Given the description of an element on the screen output the (x, y) to click on. 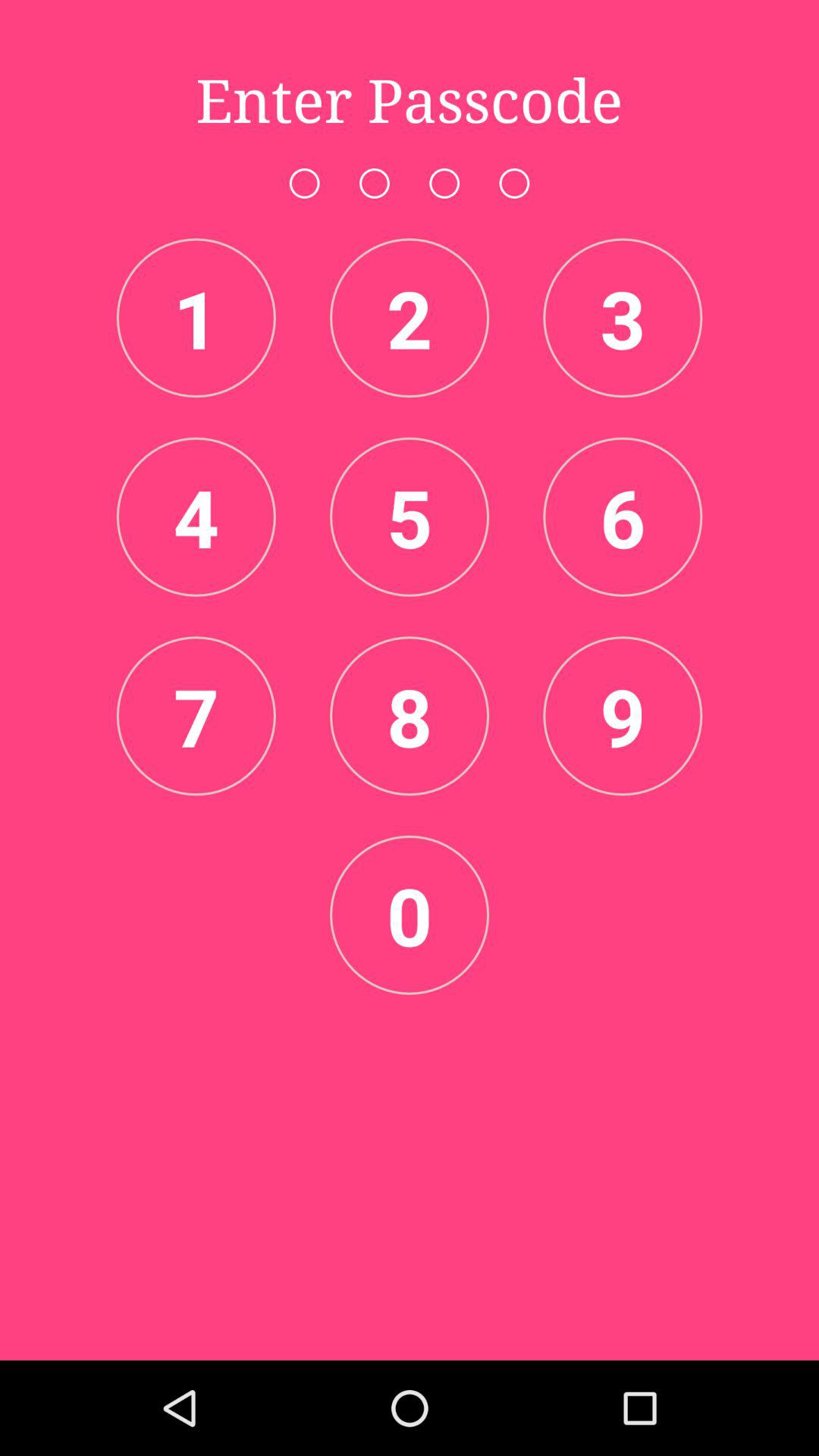
select the number 8 (409, 715)
select the icon which says 5 (409, 517)
select the number 7 (196, 715)
select the number 2 (409, 317)
click on the icon which says four (196, 517)
select zero number on the page (409, 914)
select the number  which is after five (621, 517)
